Given the description of an element on the screen output the (x, y) to click on. 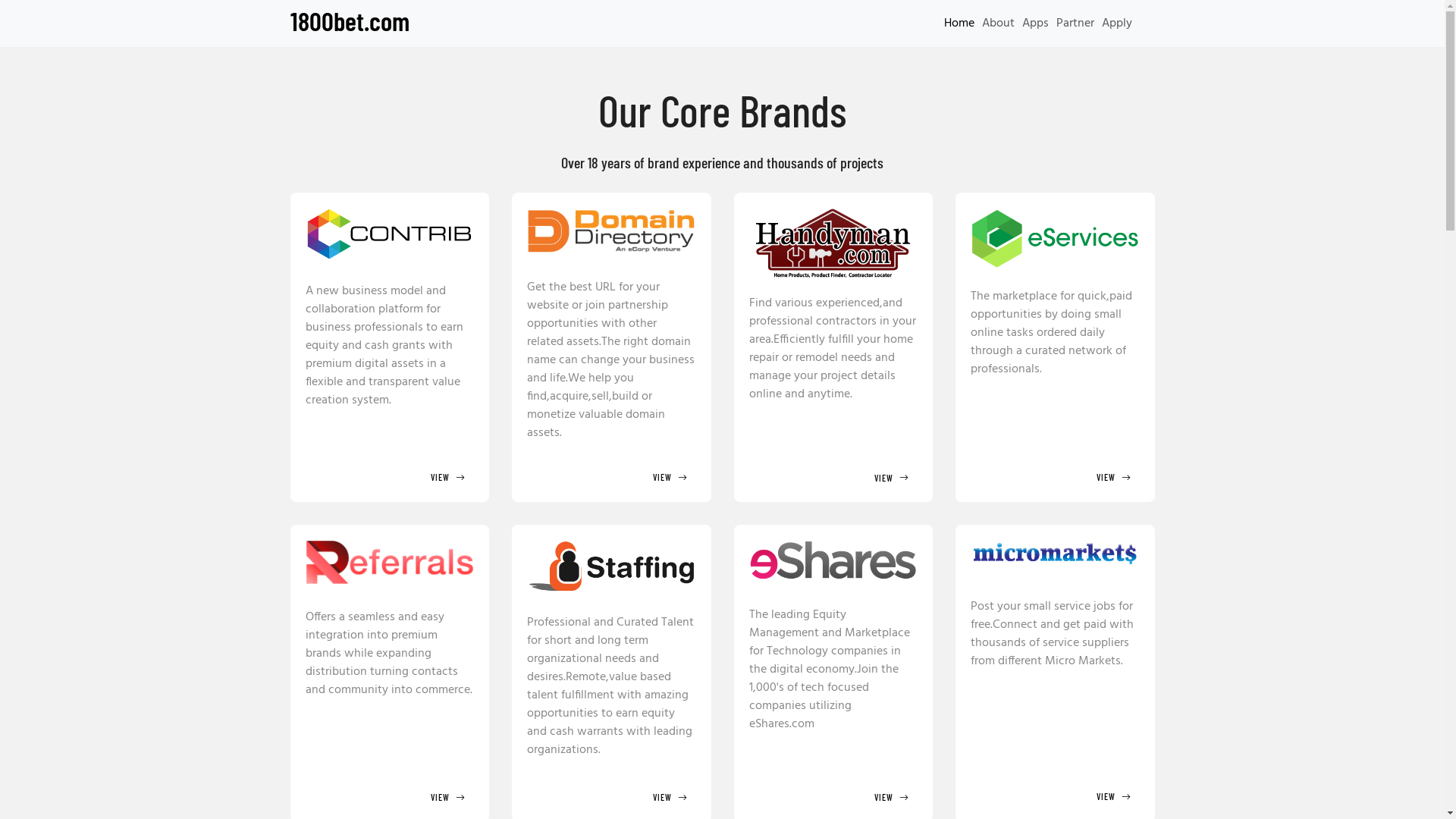
1800bet.com Element type: text (349, 23)
Apps Element type: text (1034, 23)
About Element type: text (998, 23)
VIEW  Element type: text (1054, 475)
VIEW  Element type: text (388, 475)
VIEW  Element type: text (833, 795)
Apply Element type: text (1116, 23)
Partner Element type: text (1075, 23)
VIEW  Element type: text (611, 795)
VIEW  Element type: text (611, 475)
VIEW  Element type: text (1054, 795)
VIEW  Element type: text (388, 795)
Home Element type: text (959, 23)
VIEW  Element type: text (833, 476)
